Given the description of an element on the screen output the (x, y) to click on. 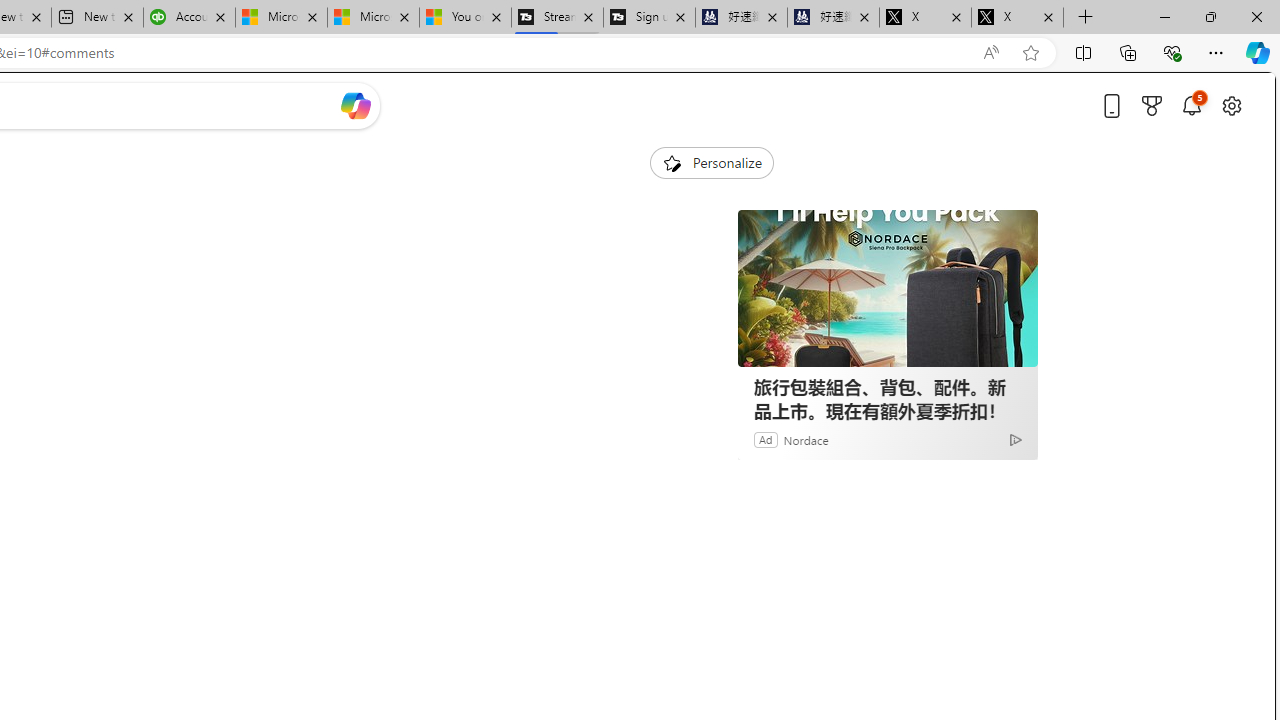
Accounting Software for Accountants, CPAs and Bookkeepers (189, 17)
